Given the description of an element on the screen output the (x, y) to click on. 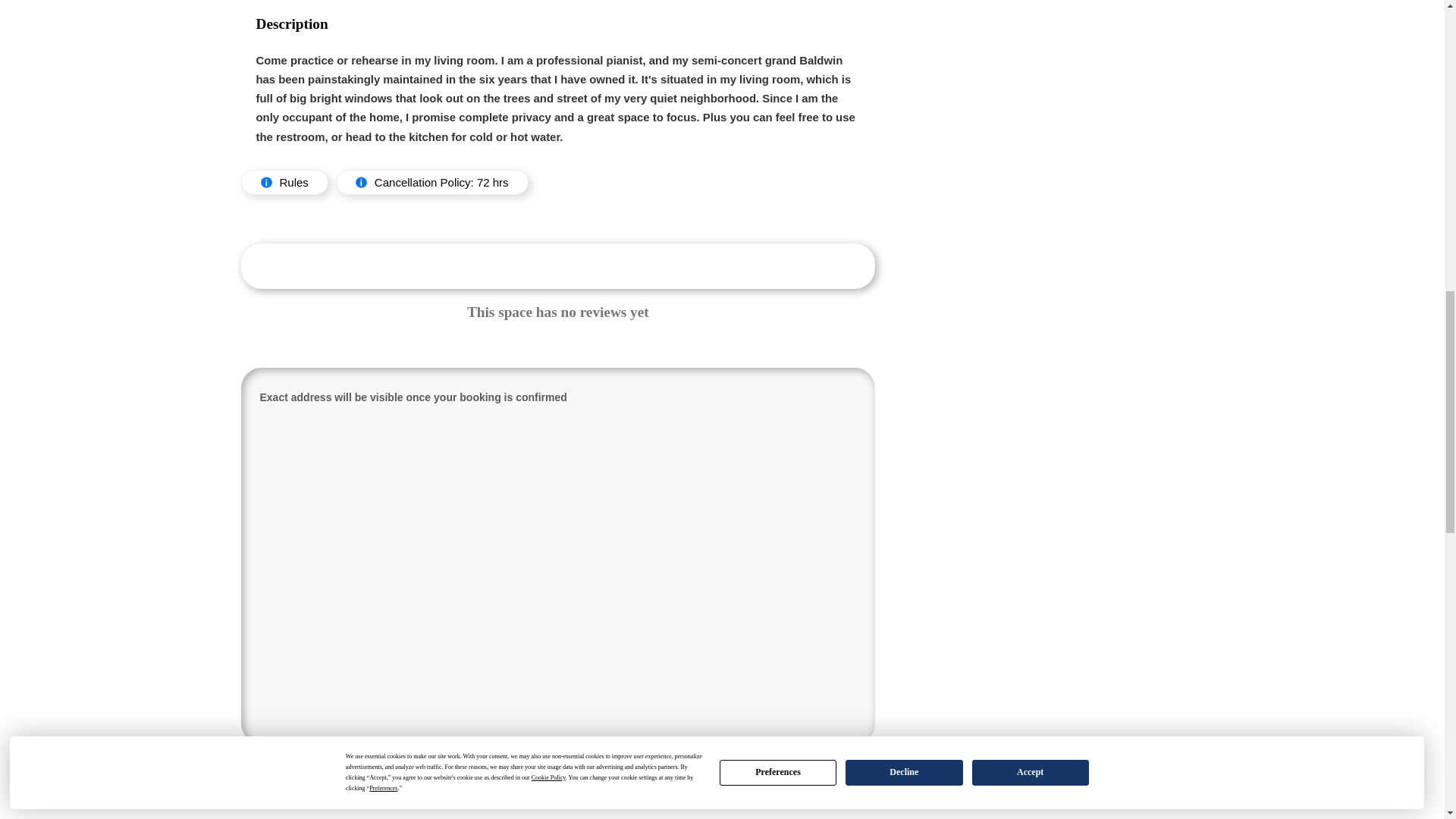
Local (359, 779)
